Given the description of an element on the screen output the (x, y) to click on. 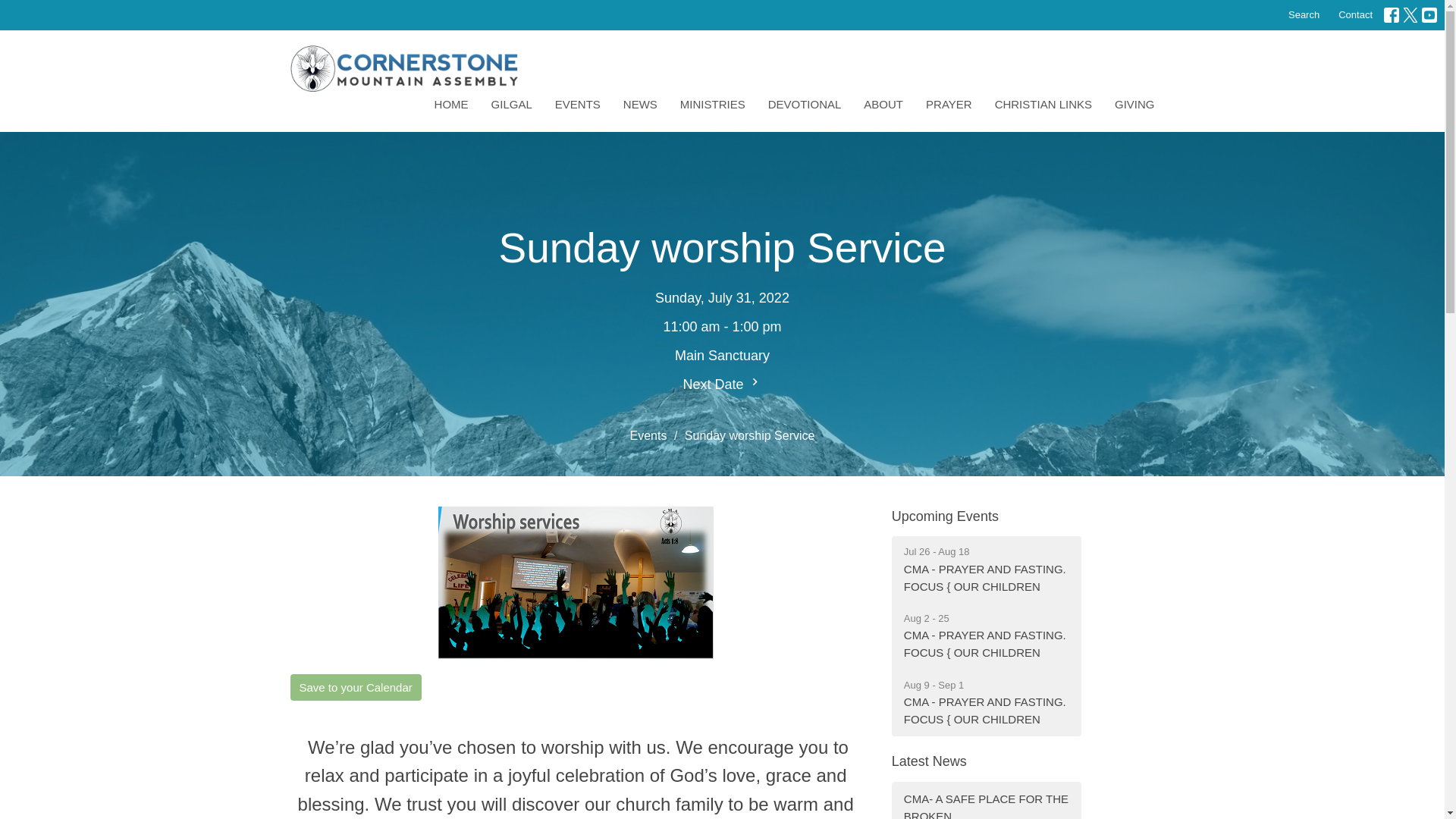
Upcoming Events (944, 516)
CMA- A SAFE PLACE FOR THE BROKEN (986, 800)
GIVING (1134, 104)
Next Date (721, 384)
GILGAL (512, 104)
HOME (450, 104)
Latest News (928, 761)
ABOUT (882, 104)
Save to your Calendar (354, 687)
Events (648, 435)
